Given the description of an element on the screen output the (x, y) to click on. 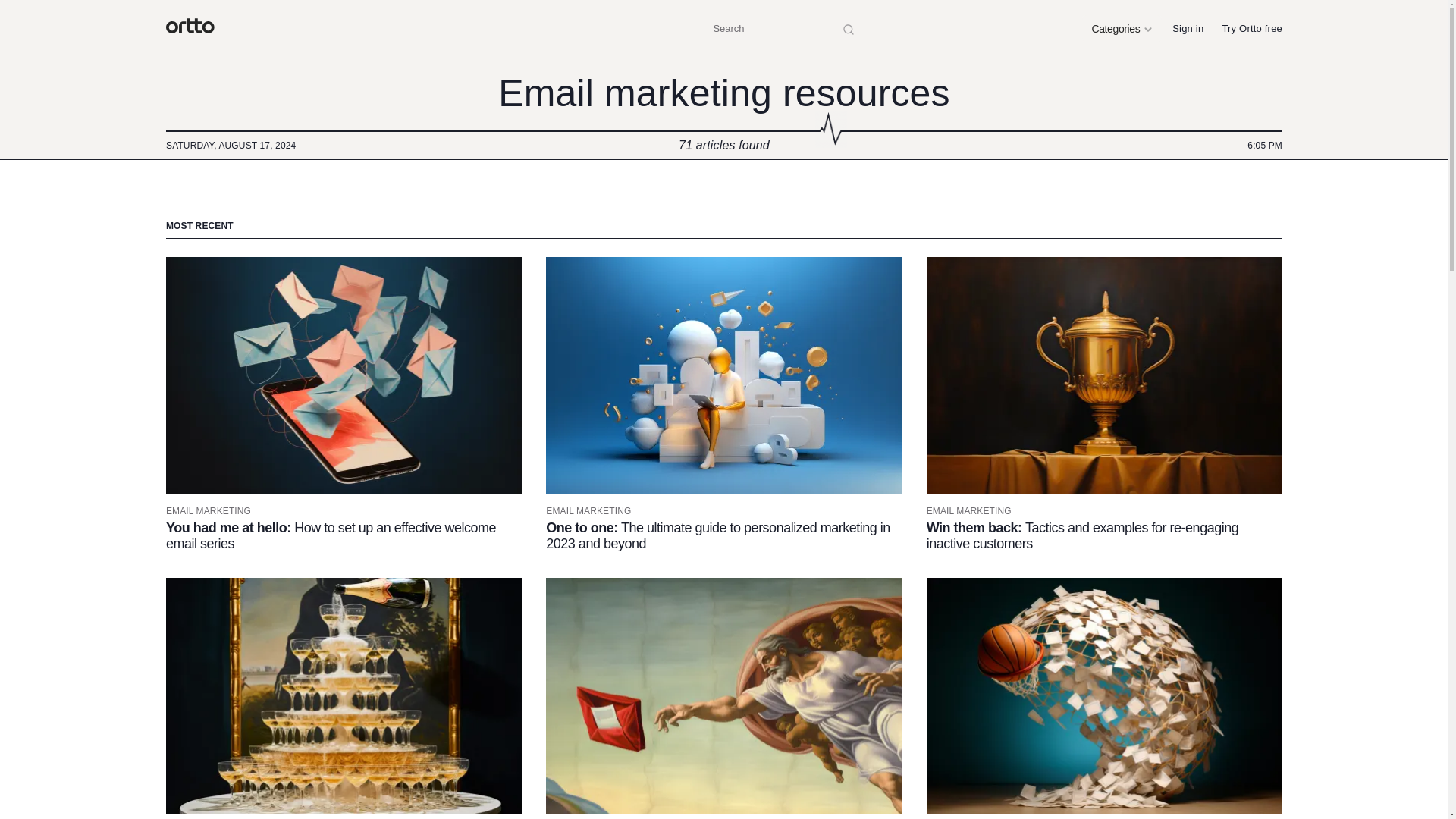
Try Ortto free (1251, 28)
Search (728, 28)
Sign in (1188, 28)
Categories (1121, 28)
